Given the description of an element on the screen output the (x, y) to click on. 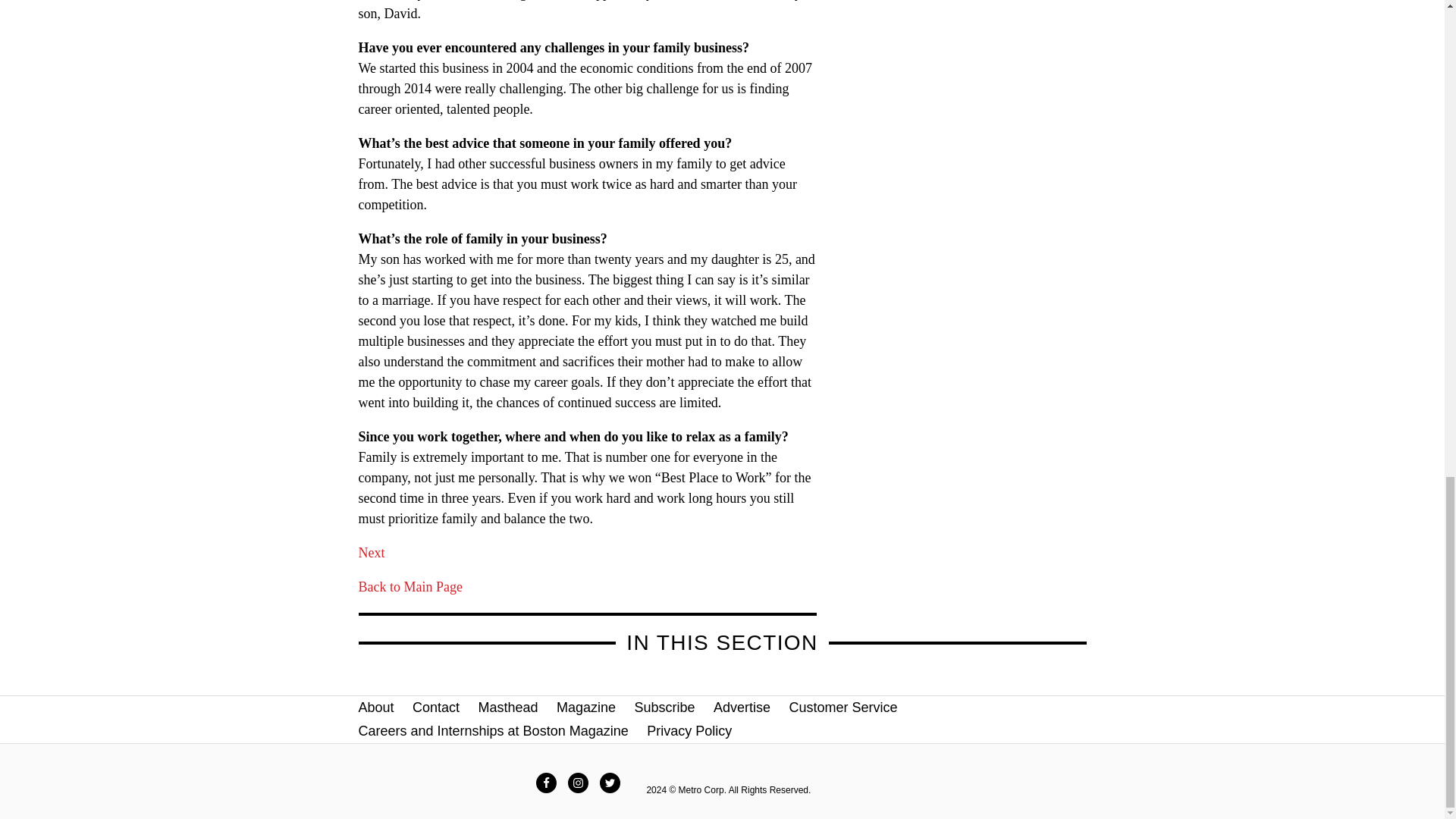
3rd party ad content (969, 8)
